Given the description of an element on the screen output the (x, y) to click on. 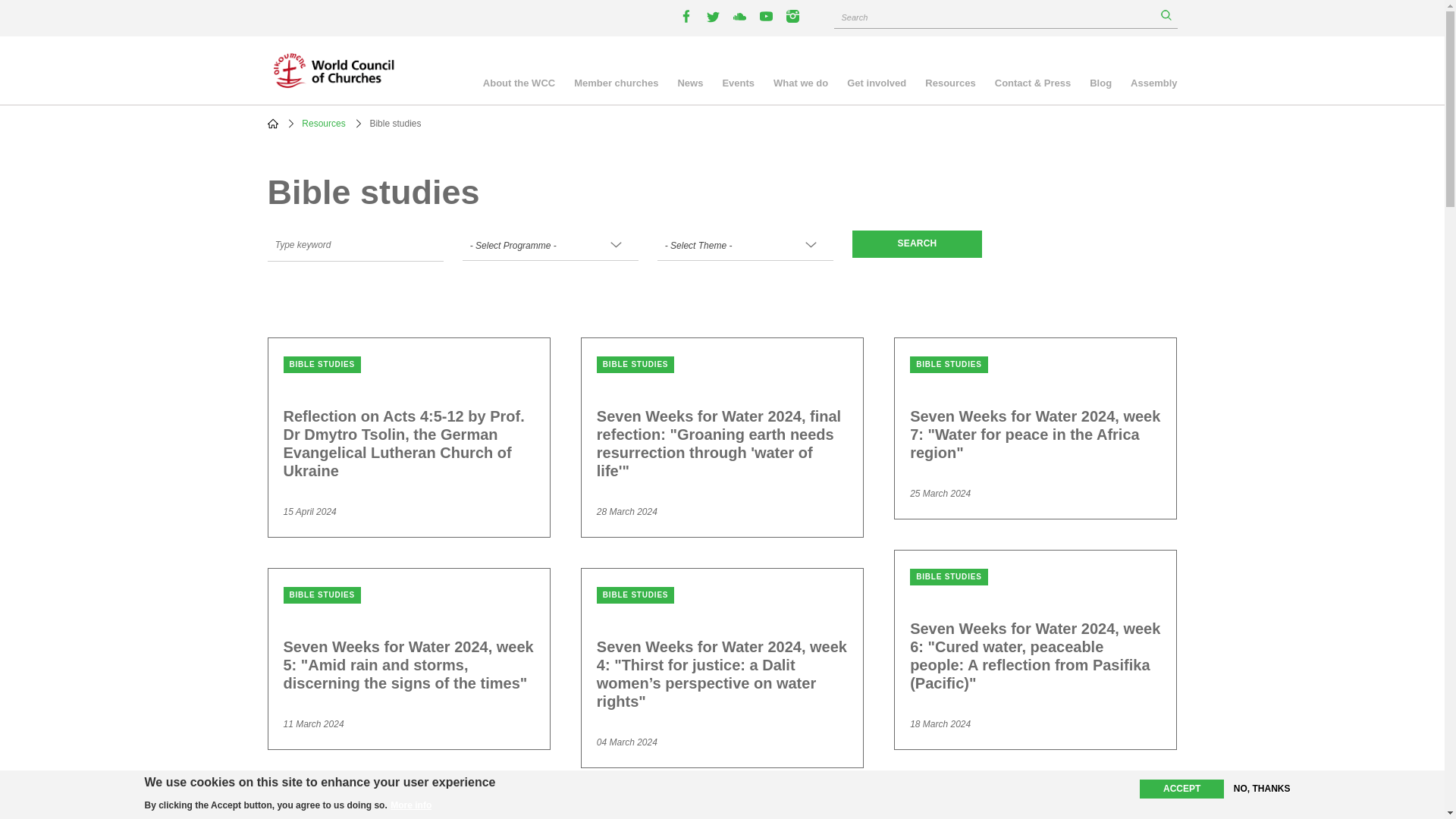
Resources (323, 122)
Blog (1100, 84)
Search (1165, 15)
Search (916, 243)
More info (410, 805)
Search (1165, 15)
Search (916, 243)
- Select Theme - (746, 245)
BIBLE STUDIES (635, 593)
BIBLE STUDIES (949, 574)
BIBLE STUDIES (635, 362)
Get involved (876, 84)
NO, THANKS (1262, 789)
BIBLE STUDIES (322, 362)
